Given the description of an element on the screen output the (x, y) to click on. 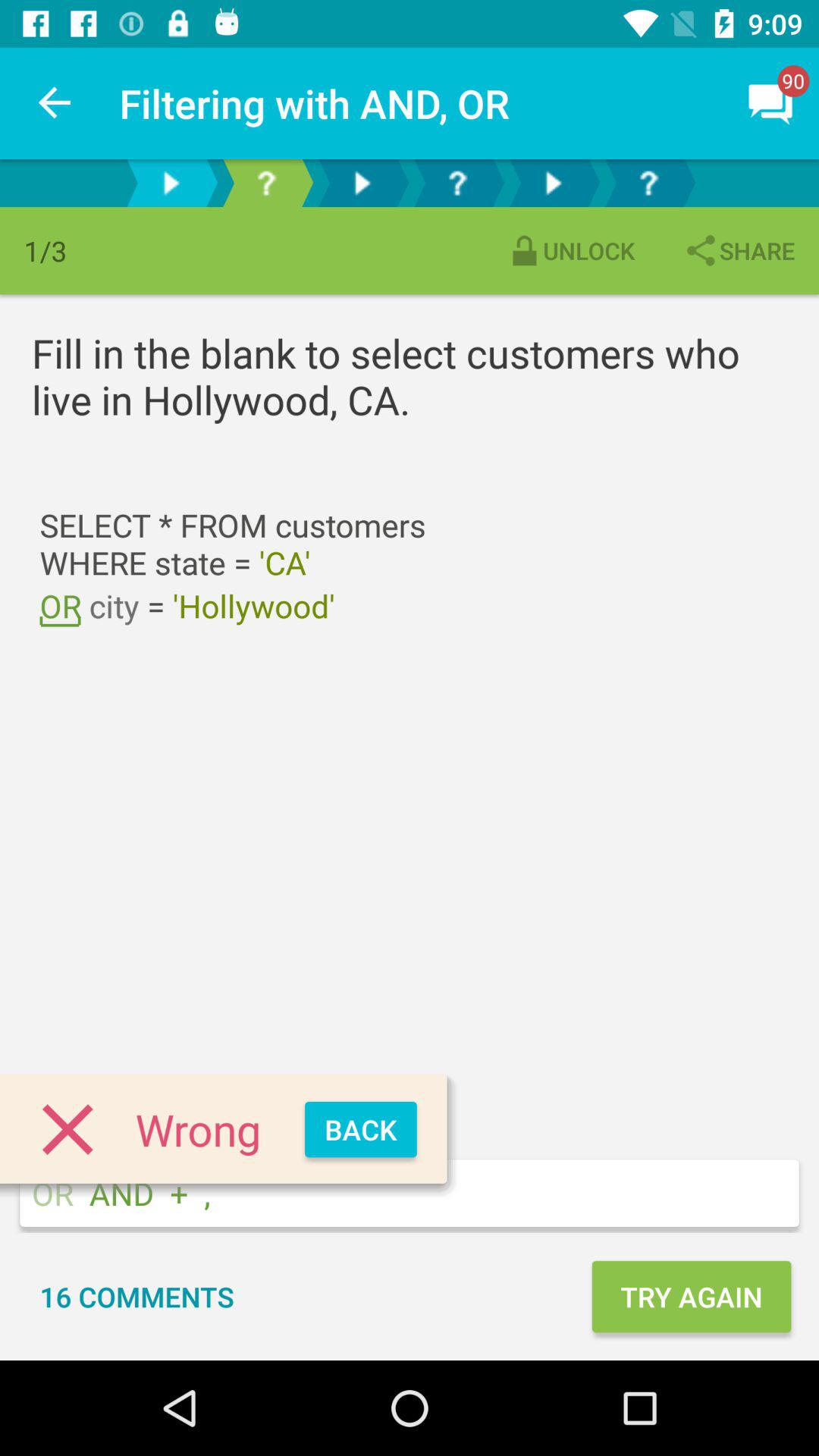
open item to the left of try again icon (136, 1296)
